Given the description of an element on the screen output the (x, y) to click on. 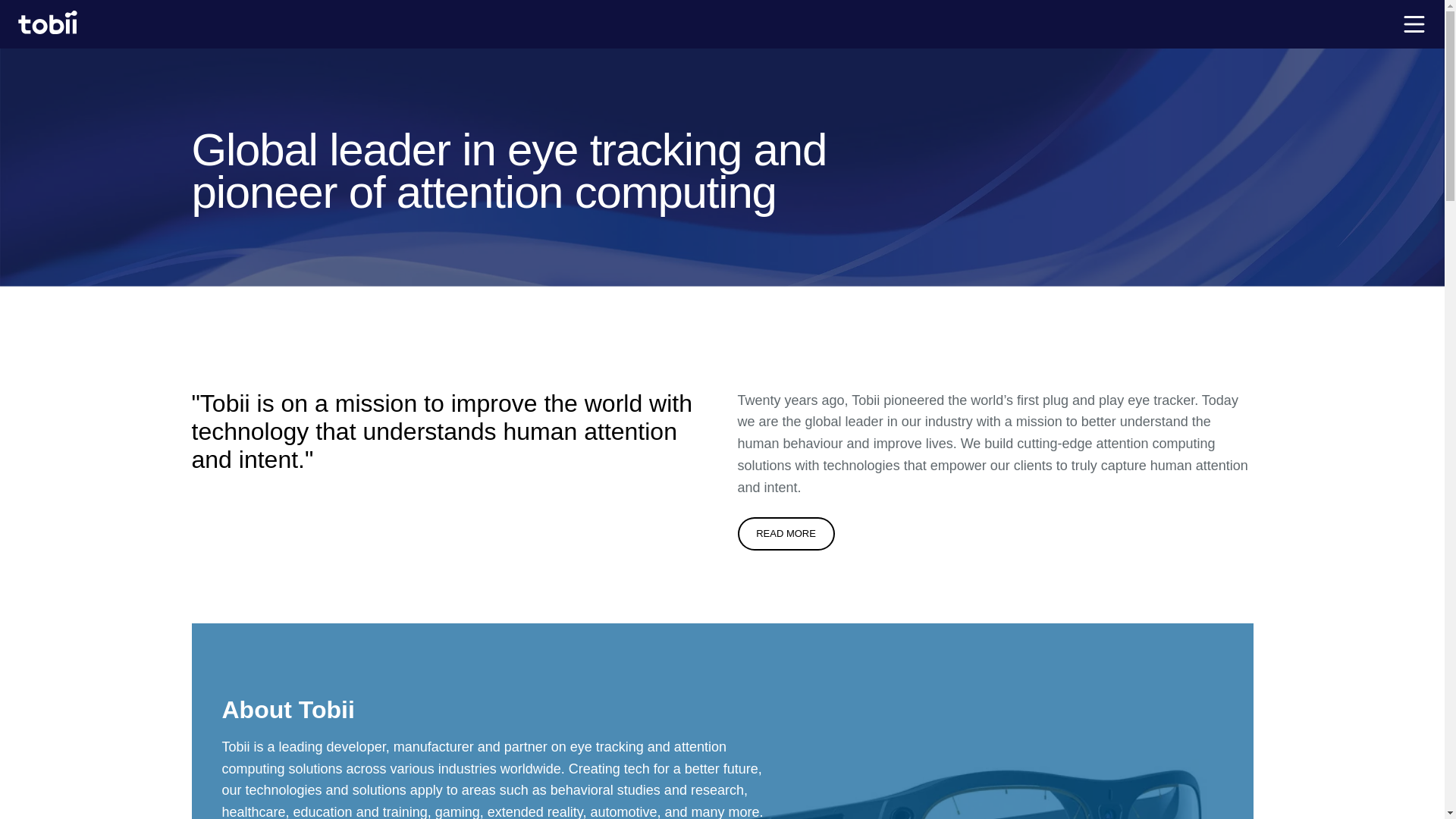
Menu (1414, 24)
home (47, 23)
READ MORE (785, 533)
Tobii (47, 23)
Read more (785, 533)
